Given the description of an element on the screen output the (x, y) to click on. 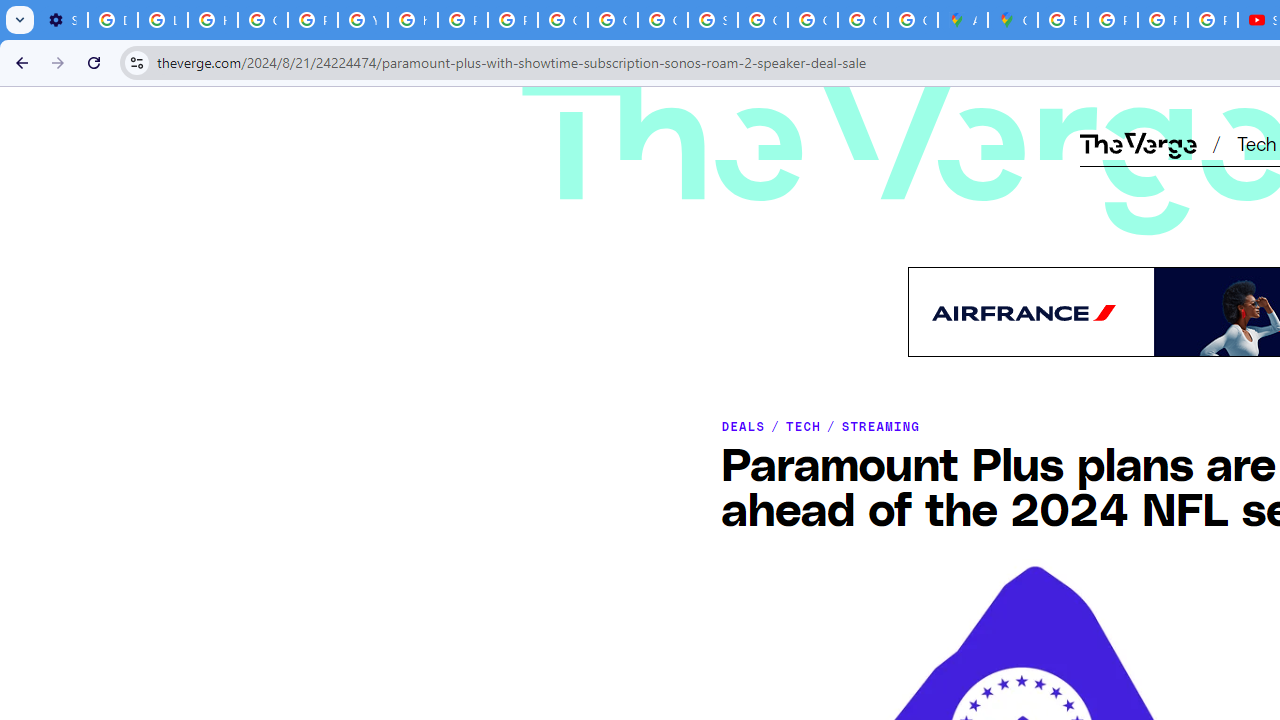
The Verge logo. Click to visit the homepage (791, 111)
Privacy Help Center - Policies Help (462, 20)
YouTube (362, 20)
Sign in - Google Accounts (712, 20)
The Verge homepage The Verge (1137, 142)
Delete photos & videos - Computer - Google Photos Help (113, 20)
The Verge (791, 111)
Blogger Policies and Guidelines - Transparency Center (1062, 20)
